Given the description of an element on the screen output the (x, y) to click on. 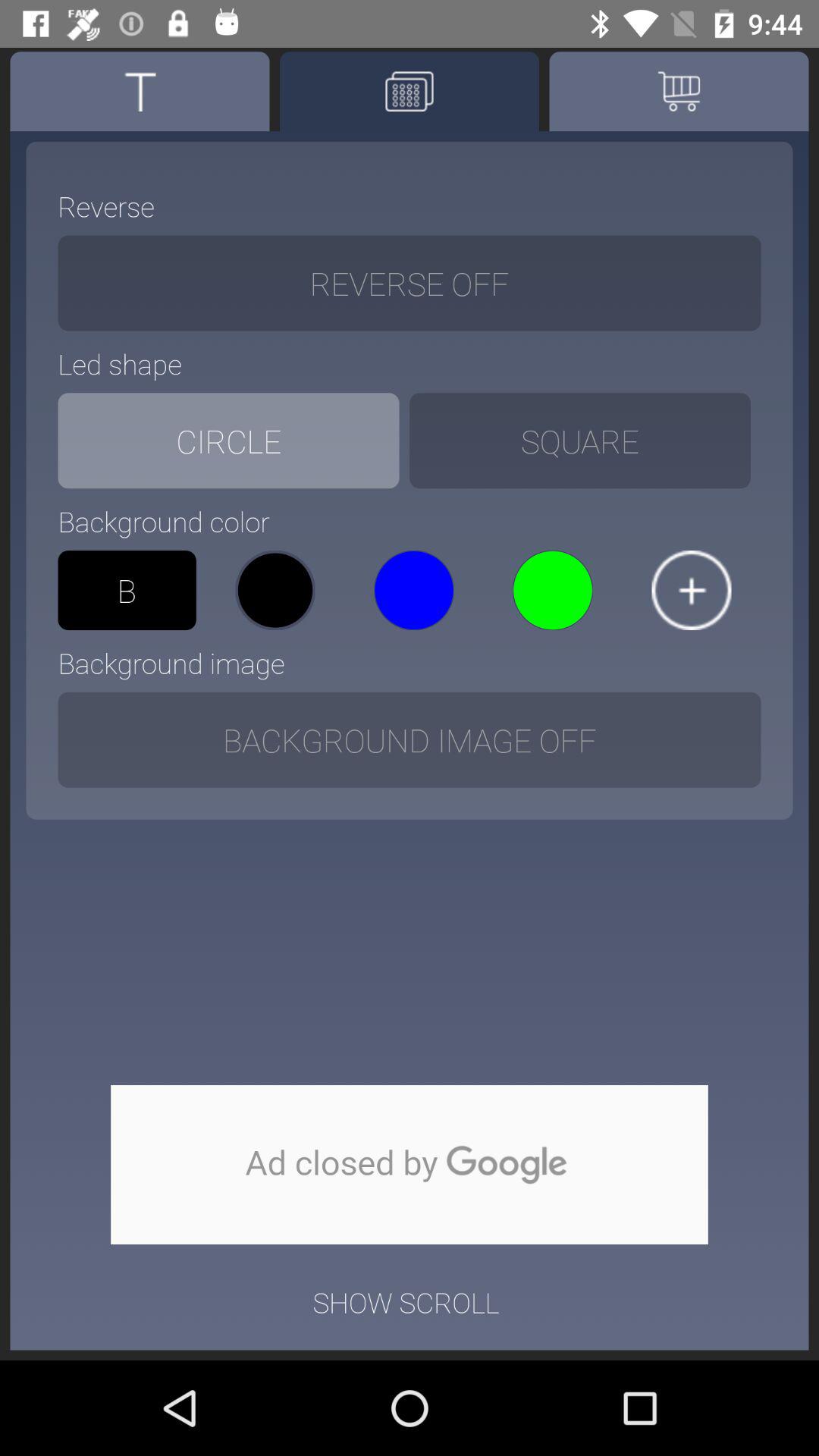
create led sign (409, 91)
